Given the description of an element on the screen output the (x, y) to click on. 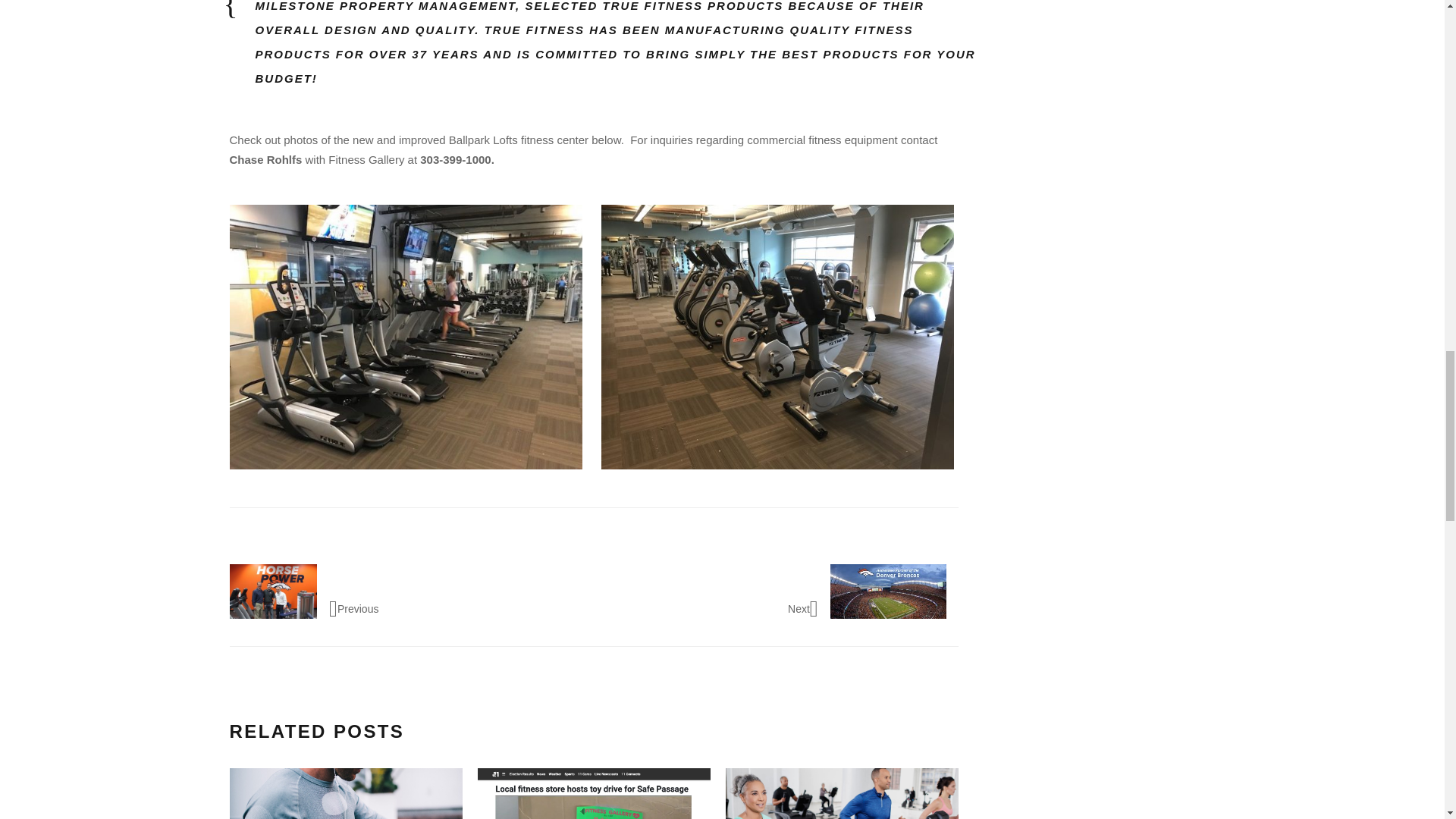
How to Get Fit and Stay Fit (841, 793)
Holiday Toy Drive for Safe Passage Children (593, 793)
